Given the description of an element on the screen output the (x, y) to click on. 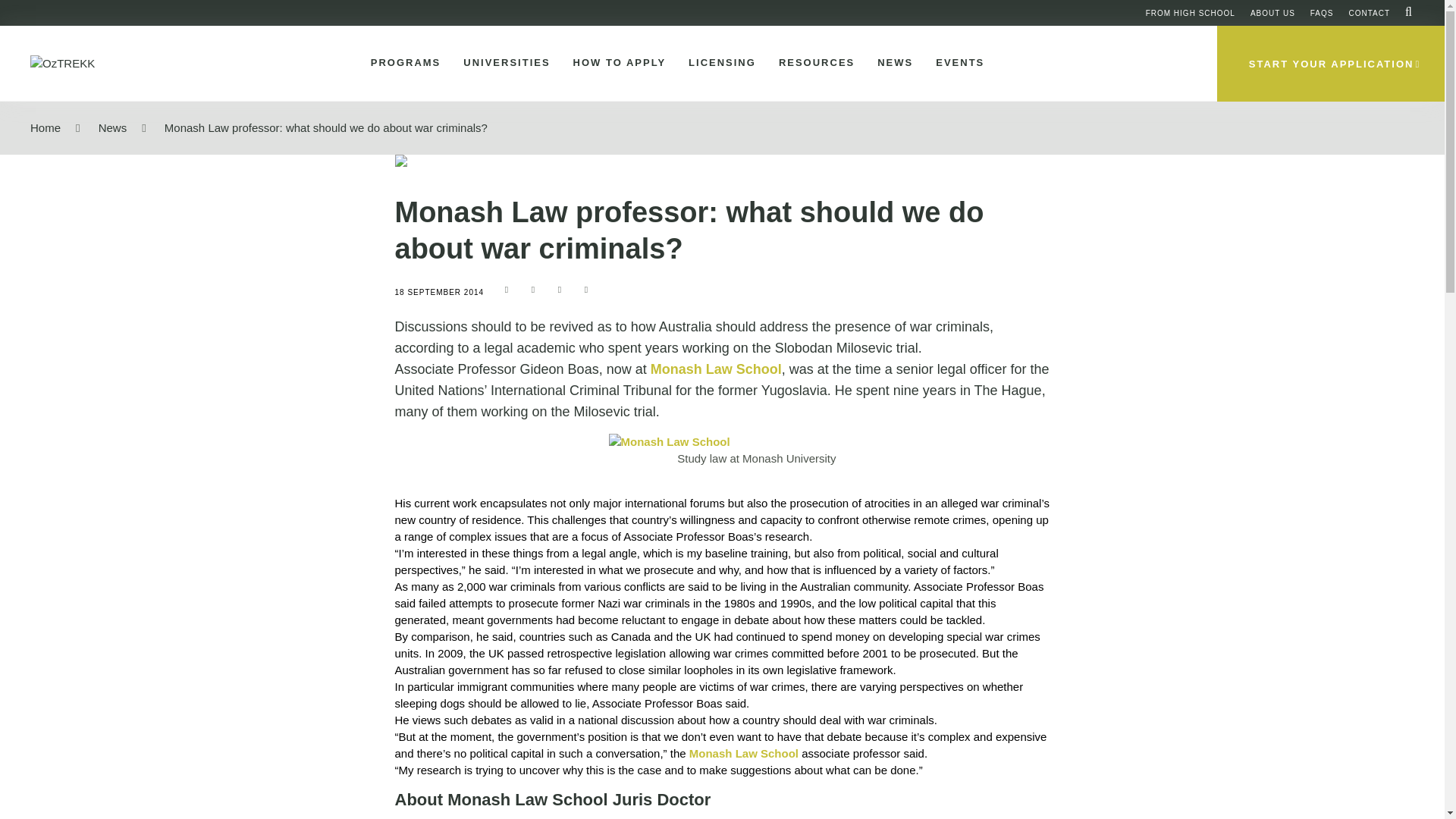
PROGRAMS (401, 63)
Monash University Law School (715, 368)
FROM HIGH SCHOOL (1189, 13)
CONTACT (1369, 13)
Monash University Law School (742, 753)
Learn more about the Monash Juris Doctor program (668, 442)
FAQS (1321, 13)
ABOUT US (1272, 13)
